Given the description of an element on the screen output the (x, y) to click on. 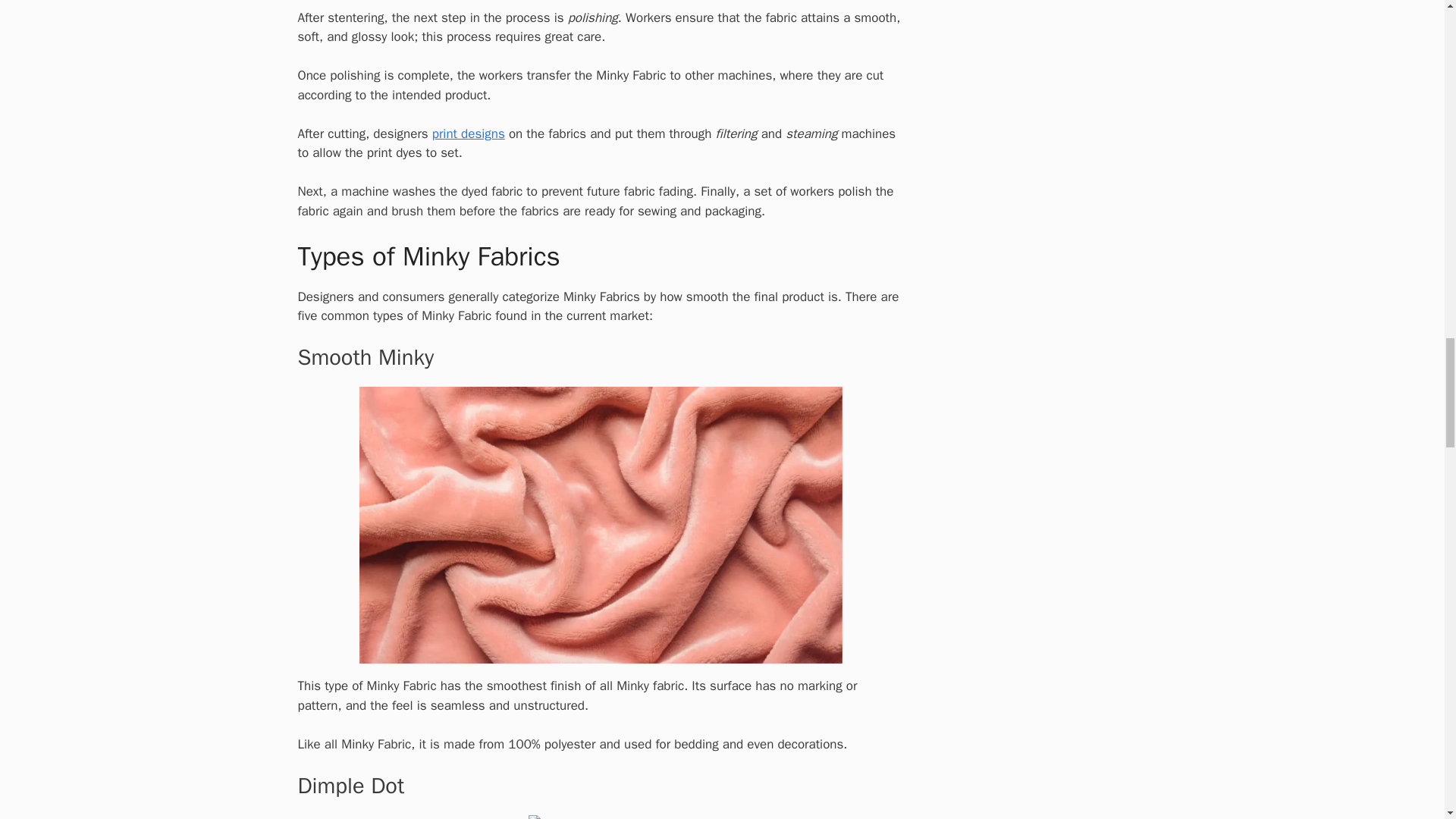
print designs (468, 133)
